Given the description of an element on the screen output the (x, y) to click on. 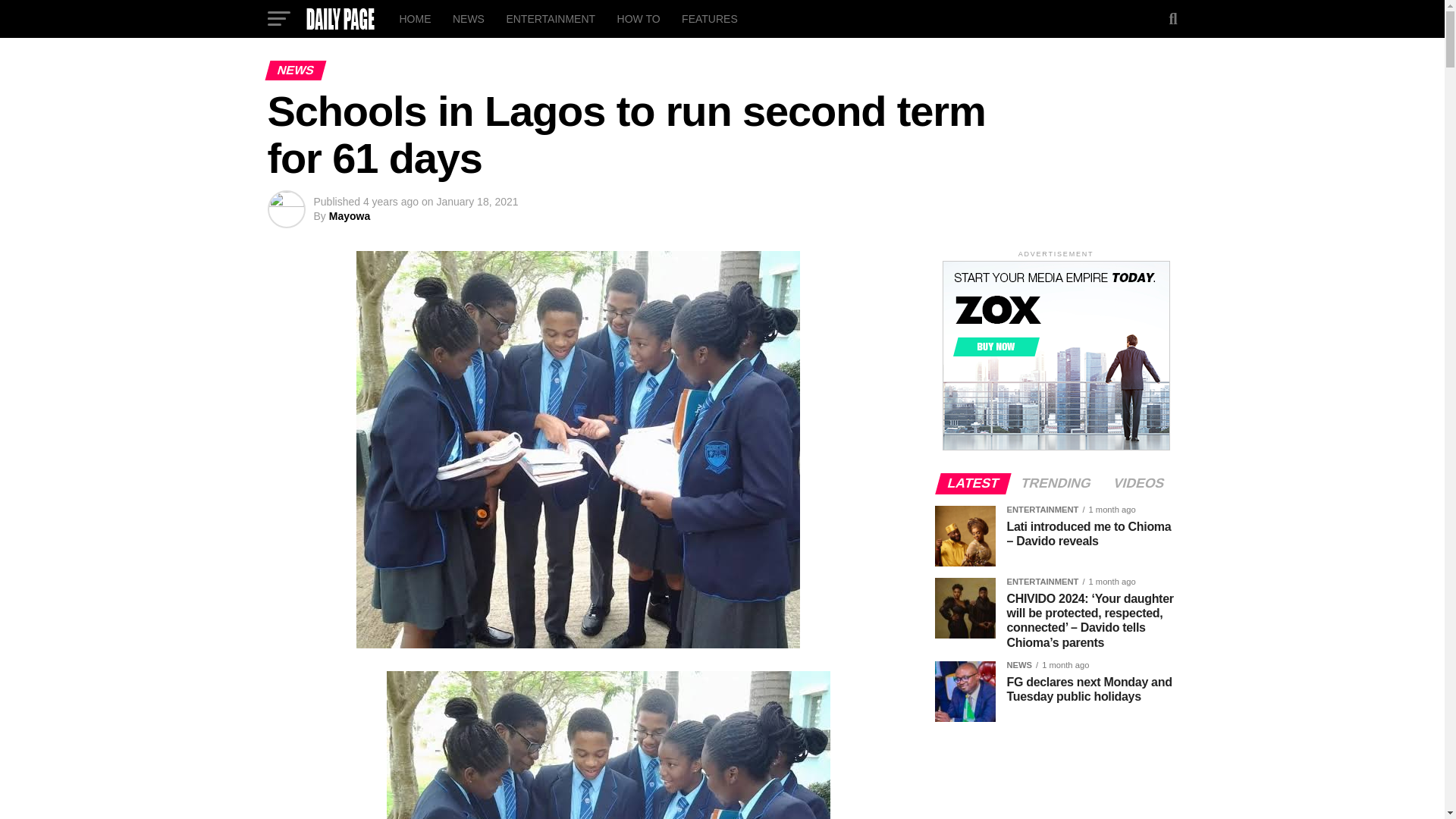
TRENDING (1055, 483)
LATEST (973, 483)
Posts by Mayowa (349, 215)
ENTERTAINMENT (550, 18)
HOW TO (638, 18)
NEWS (468, 18)
HOME (414, 18)
VIDEOS (1138, 483)
FEATURES (709, 18)
Mayowa (349, 215)
